Given the description of an element on the screen output the (x, y) to click on. 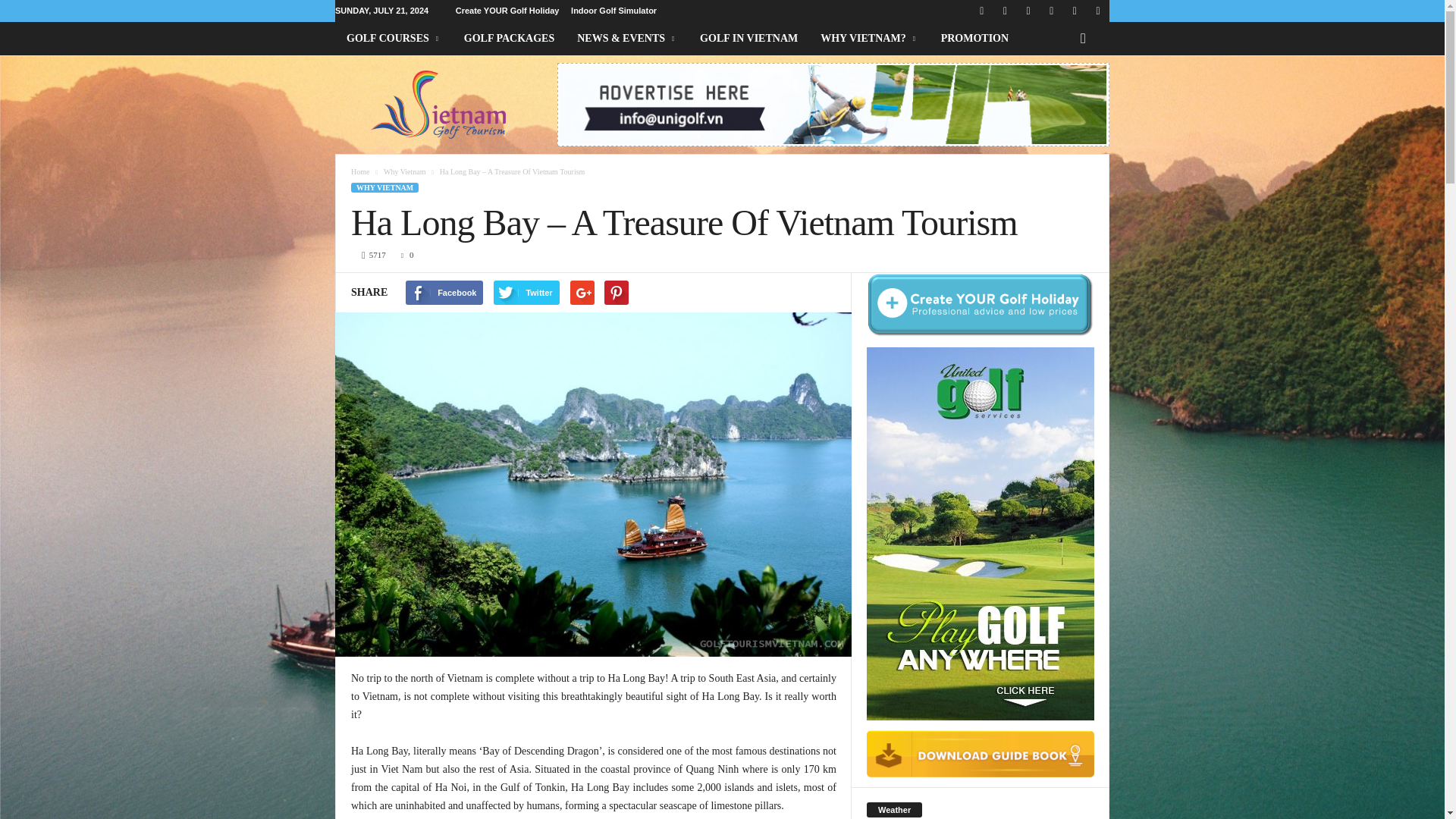
GOLF COURSES (393, 38)
Create YOUR Golf Holiday (507, 10)
Indoor Golf Simulator (613, 10)
